Given the description of an element on the screen output the (x, y) to click on. 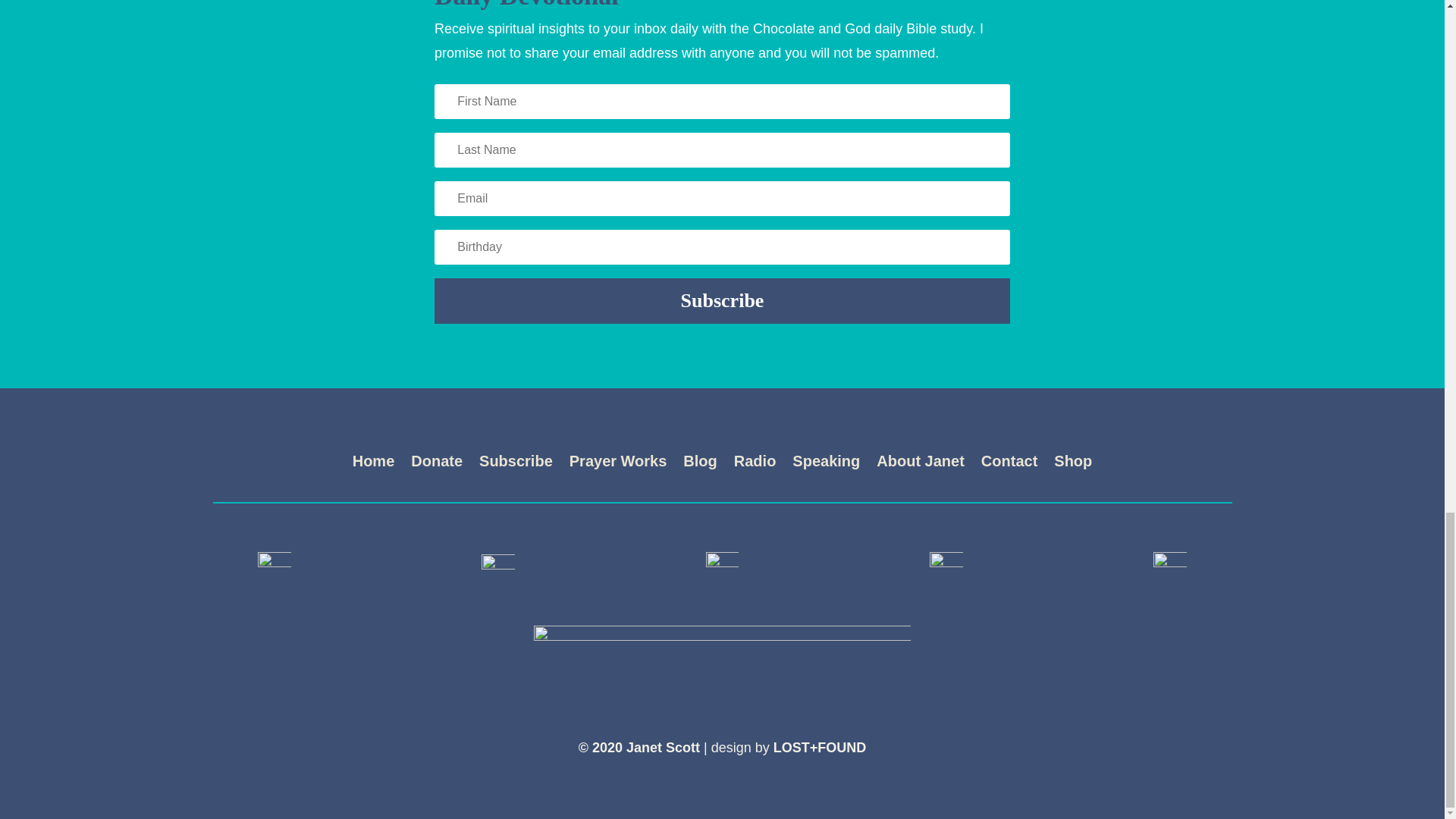
Radio (754, 463)
twitter-footer-icon (498, 566)
Speaking (826, 463)
instagram-footer-icon (722, 567)
Blog (699, 463)
pinterest-footer-icon (946, 567)
Shop (1073, 463)
About Janet (919, 463)
Prayer Works (617, 463)
Contact (1008, 463)
